Given the description of an element on the screen output the (x, y) to click on. 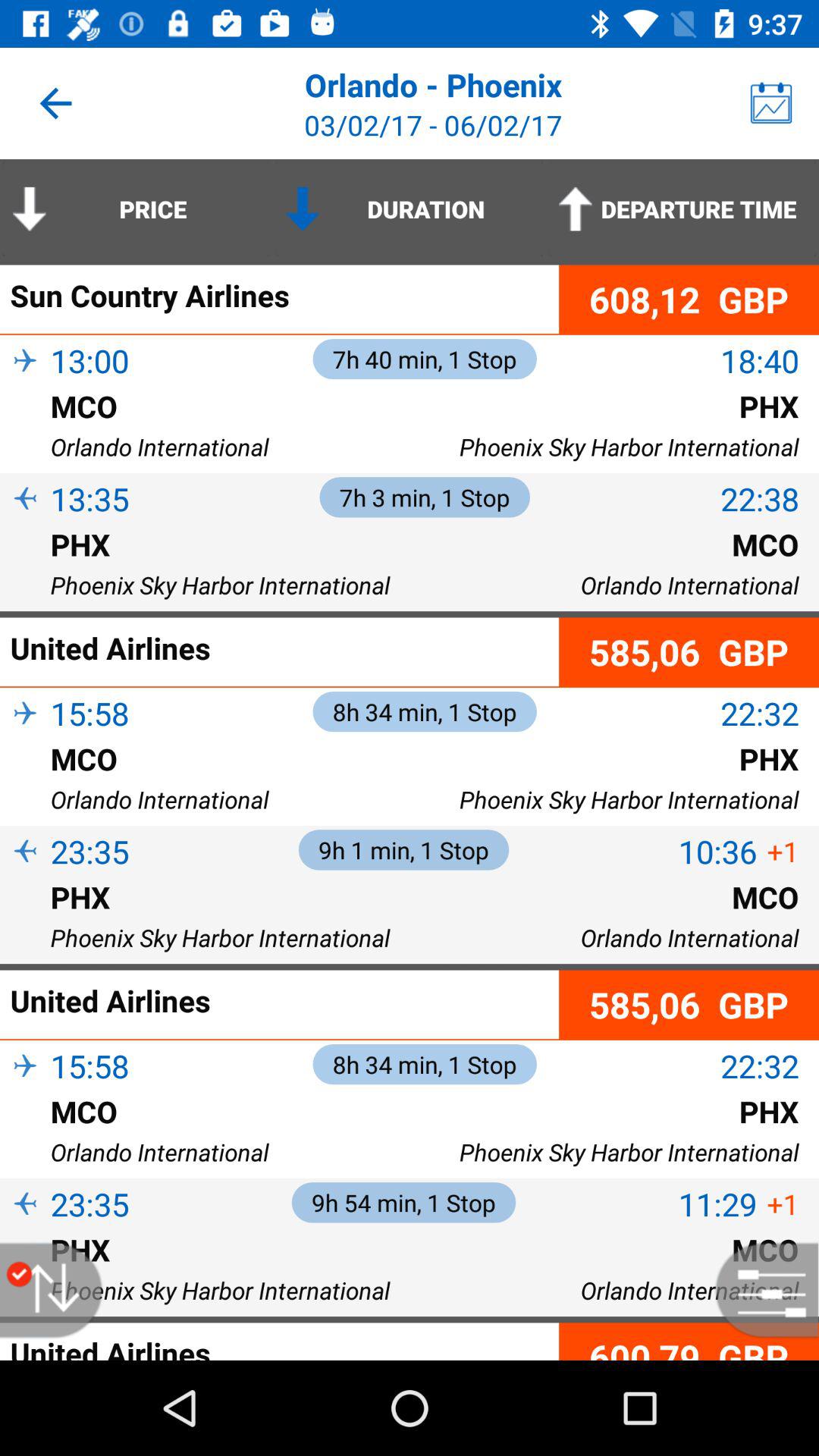
click item next to the mco icon (25, 783)
